Given the description of an element on the screen output the (x, y) to click on. 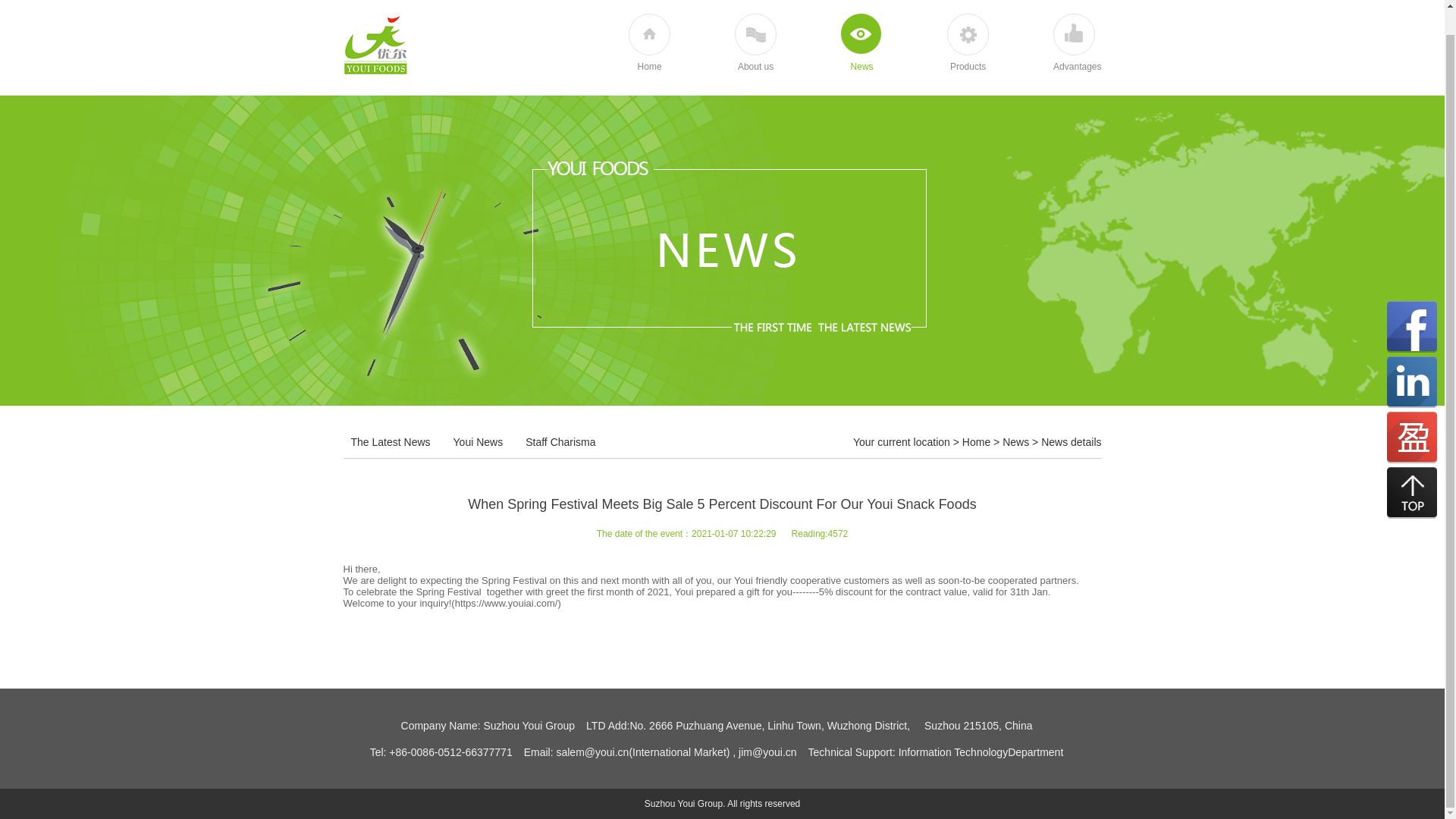
The Latest News (390, 442)
Youi News (478, 442)
Home (976, 441)
Staff Charisma (560, 442)
News (1016, 441)
